Given the description of an element on the screen output the (x, y) to click on. 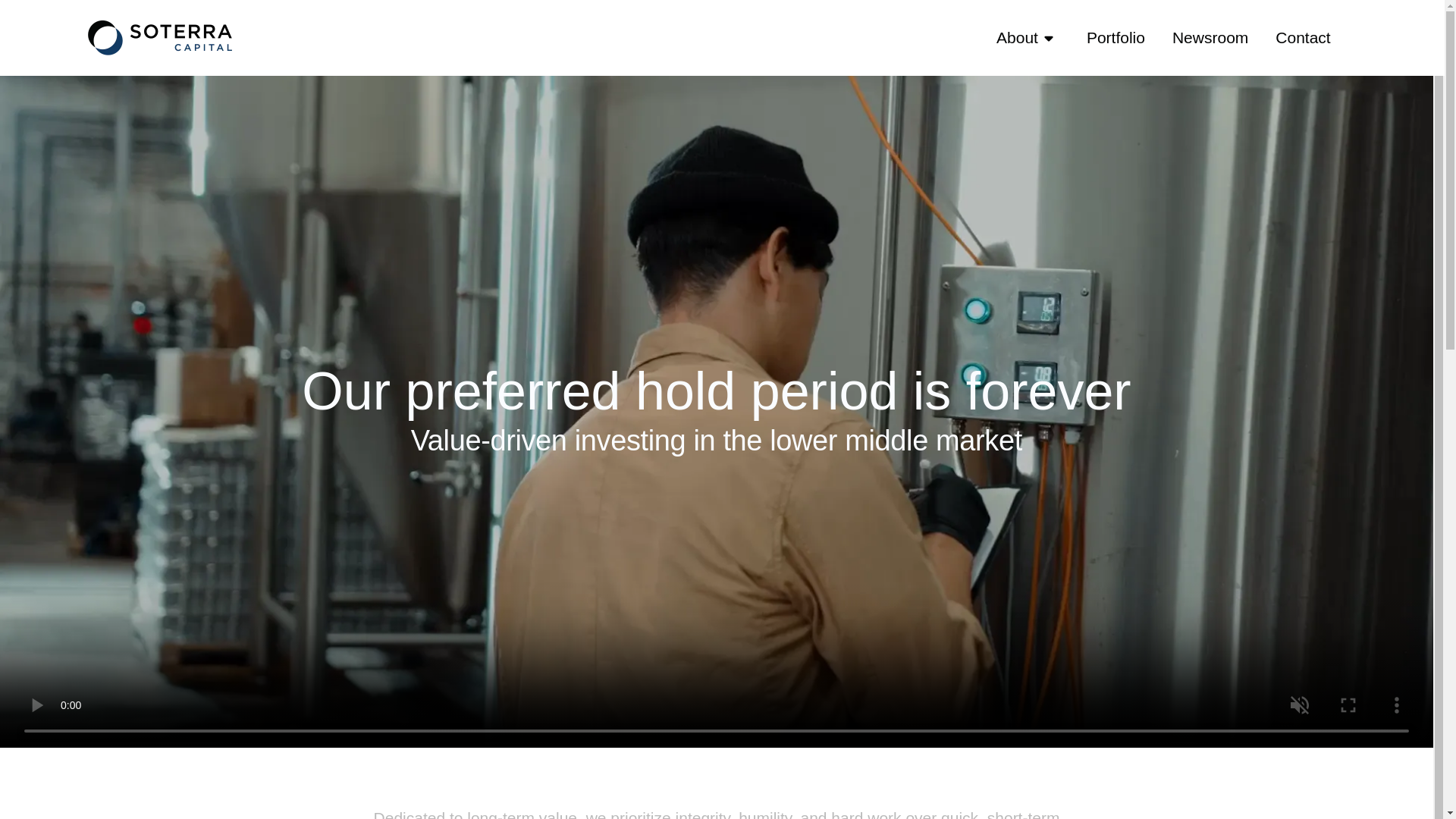
Newsroom (1209, 38)
